Given the description of an element on the screen output the (x, y) to click on. 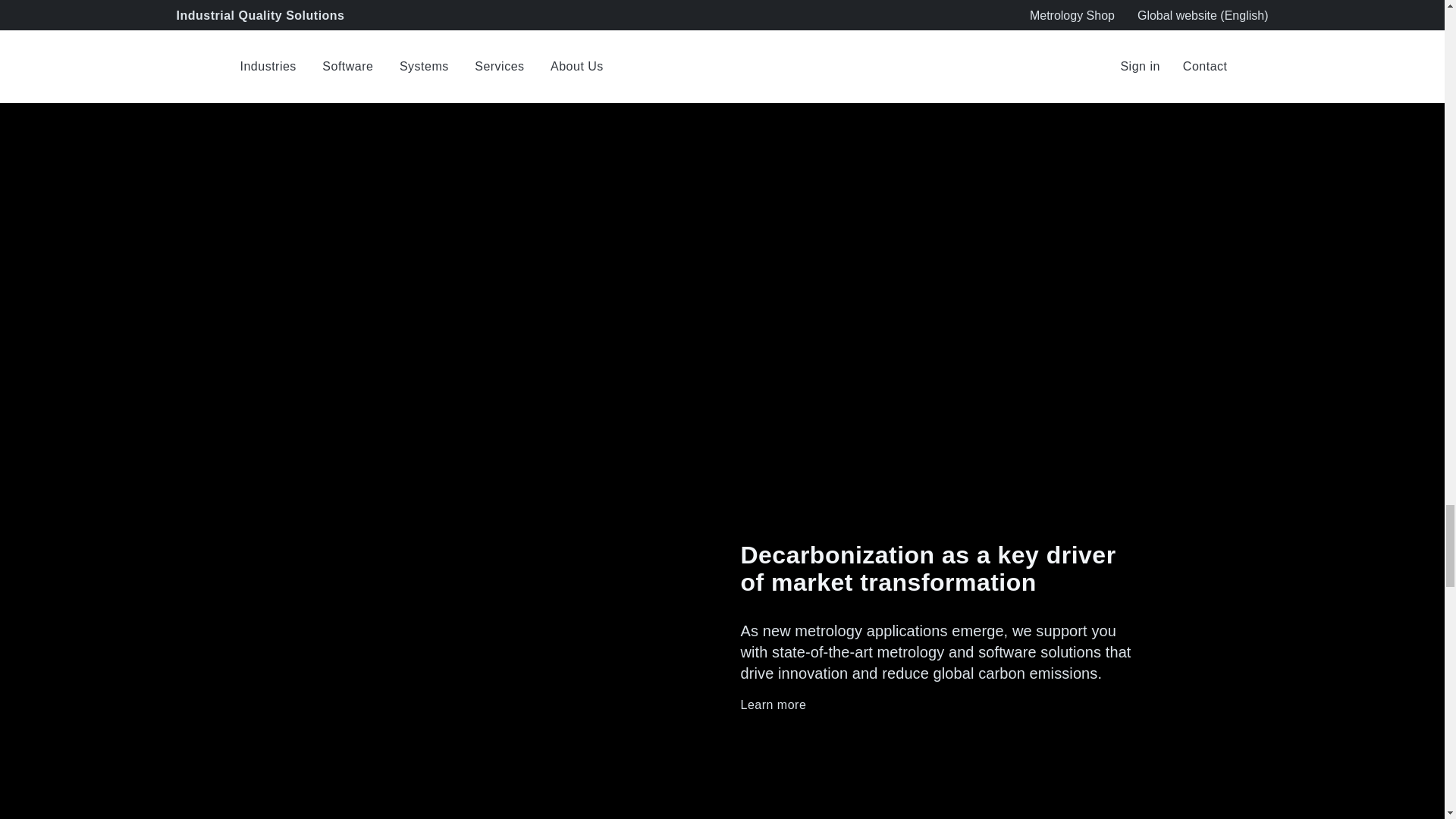
Decarbonization as a key driver of market transformation (935, 568)
Learn more (935, 705)
